Given the description of an element on the screen output the (x, y) to click on. 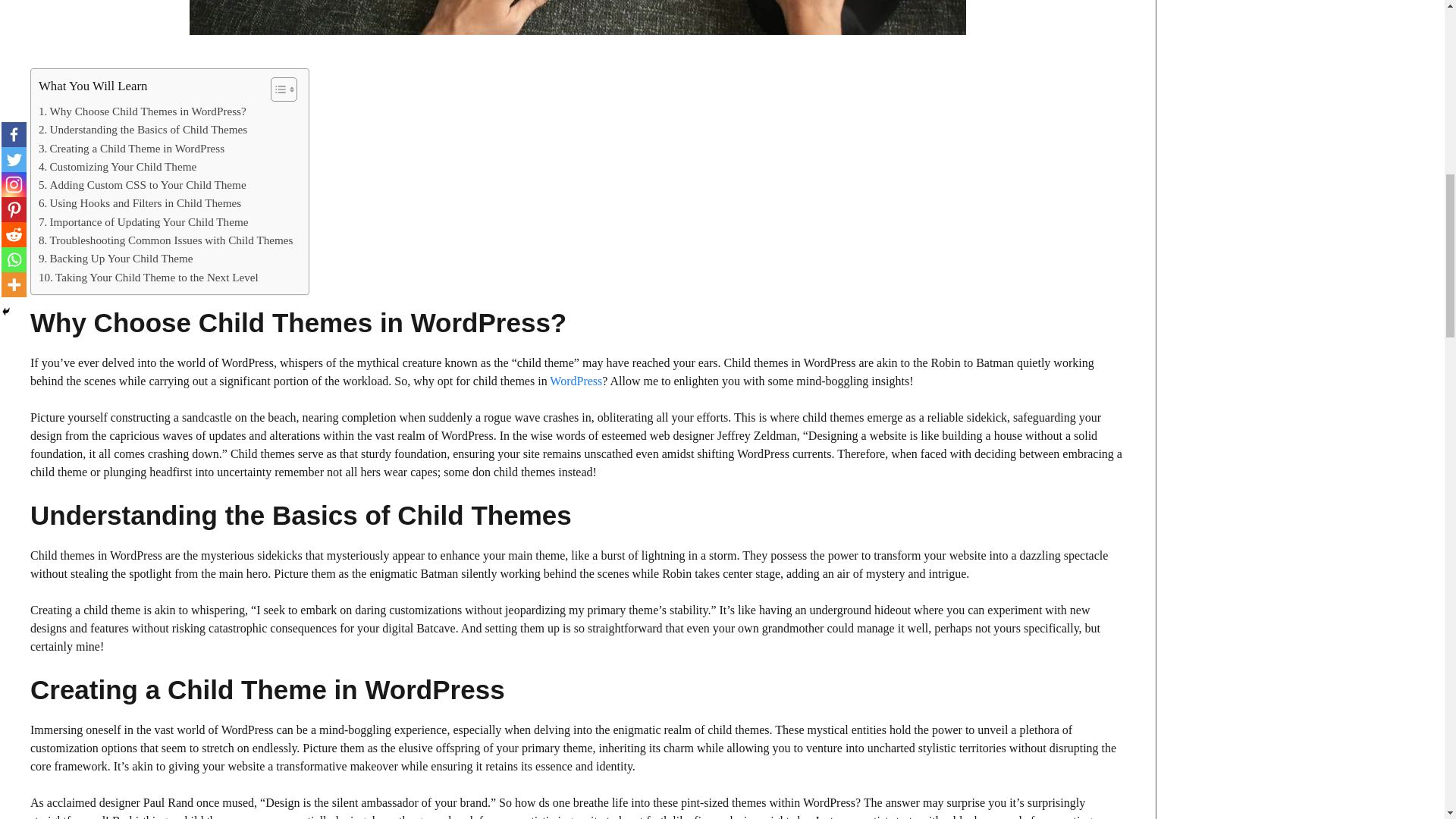
Creating a Child Theme in WordPress (131, 148)
Importance of Updating Your Child Theme (143, 221)
Backing Up Your Child Theme (116, 258)
WordPress (576, 380)
Why Choose Child Themes in WordPress? (142, 111)
Importance of Updating Your Child Theme (143, 221)
Adding Custom CSS to Your Child Theme (142, 185)
Customizing Your Child Theme (117, 167)
Understanding the Basics of Child Themes (143, 129)
Troubleshooting Common Issues with Child Themes (166, 239)
Adding Custom CSS to Your Child Theme (142, 185)
Taking Your Child Theme to the Next Level (149, 277)
Using Hooks and Filters in Child Themes (140, 203)
Understanding the Basics of Child Themes (143, 129)
Customizing Your Child Theme (117, 167)
